Given the description of an element on the screen output the (x, y) to click on. 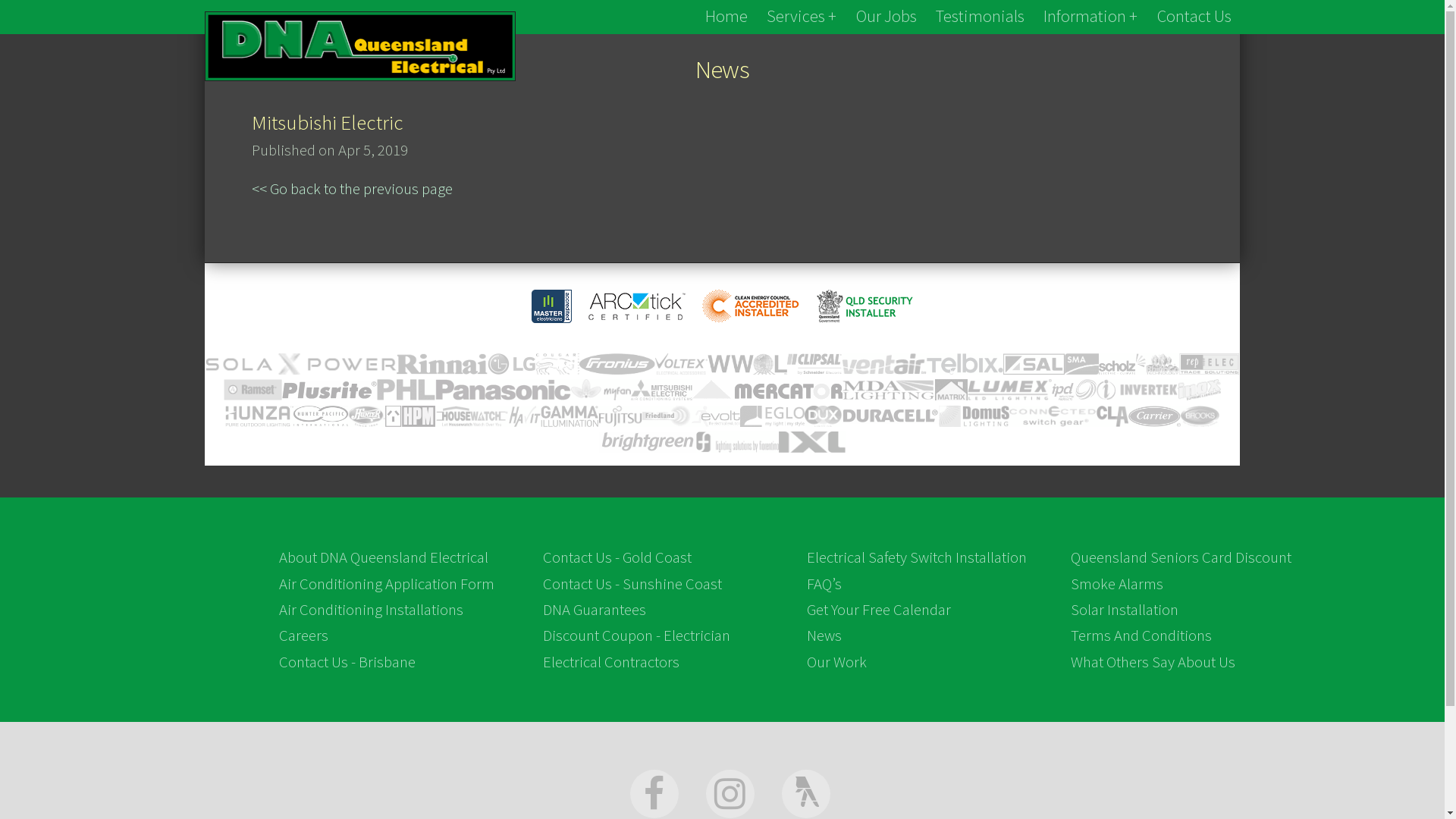
Vent Air Element type: hover (883, 363)
Terms And Conditions Element type: text (1140, 635)
Queensland Seniors Card Discount Element type: text (1180, 557)
Inox Element type: hover (1198, 389)
Fujitsu Element type: hover (620, 415)
Mitsubishi Electric Element type: hover (661, 389)
Invertek Element type: hover (1136, 389)
Hunter Fans Element type: hover (366, 415)
Dux Element type: hover (822, 415)
About DNA Queensland Electrical Element type: text (383, 557)
Eglo Lighting Element type: hover (772, 415)
Services Element type: text (801, 17)
Ramset Element type: hover (252, 389)
Contact Us - Gold Coast Element type: text (616, 557)
Get Your Free Calendar Element type: text (878, 609)
Rhino Element type: hover (1162, 363)
ARC Tick Certified Element type: hover (636, 306)
Electrical Contractors Element type: text (610, 661)
Contact Us Element type: text (1193, 17)
Duracell Element type: hover (889, 415)
Air Conditioning Installations Element type: text (371, 609)
News Element type: text (823, 635)
MDA Lighting Element type: hover (888, 389)
IPD Industrial Products Element type: hover (1073, 389)
Gamma Illumination Element type: hover (569, 415)
Fiorentino Element type: hover (737, 441)
What Others Say About Us Element type: text (1152, 661)
Havit Lighting Element type: hover (524, 415)
Plusrite Element type: hover (329, 389)
Sunny Lighting Element type: hover (1033, 363)
Mercator Lighting Element type: hover (767, 389)
Cougar Lighting Element type: hover (557, 363)
PHL Element type: hover (405, 389)
Scholz Group Element type: hover (1121, 363)
SMA Element type: hover (1081, 363)
Clipsal Element type: hover (814, 363)
Master Electrician Element type: hover (551, 306)
Matrix Element type: hover (951, 389)
Carrier Element type: hover (1154, 415)
Fronius Element type: hover (617, 363)
Bright Green Element type: hover (647, 442)
Smoke Alarms Element type: text (1116, 583)
Testimonials Element type: text (979, 17)
Air Conditioning Application Form Element type: text (386, 583)
Domus Lighting Element type: hover (973, 415)
LG Element type: hover (511, 363)
Clean Energy Council Accredited Installer Element type: hover (750, 306)
Careers Element type: text (303, 635)
Evolt Element type: hover (715, 415)
Hunza Element type: hover (259, 415)
Hunter Pacific Element type: hover (320, 415)
Our Work Element type: text (836, 661)
Panasonic Element type: hover (503, 389)
Contact Us - Brisbane Element type: text (347, 661)
Sola X Element type: hover (300, 363)
Information Element type: text (1090, 17)
QLD Security Installer Element type: hover (864, 306)
IXL Element type: hover (812, 441)
Telbix Lighting Element type: hover (964, 363)
Home Element type: text (726, 17)
MyFan Element type: hover (600, 389)
Rinnai Element type: hover (441, 363)
<< Go back to the previous page Element type: text (351, 188)
DNA Guarantees Element type: text (594, 609)
House Watch Element type: hover (471, 415)
Lumex LED Lighting Element type: hover (1009, 389)
Contact Us - Sunshine Coast Element type: text (631, 583)
Friedland Element type: hover (667, 415)
Mitsubishi Electric Element type: text (327, 121)
HPM Element type: hover (410, 415)
Wide World Of Lights Element type: hover (747, 363)
Electrical Safety Switch Installation Element type: text (916, 557)
Discount Coupon - Electrician Element type: text (636, 635)
Solar Installation Element type: text (1124, 609)
Voltex Element type: hover (681, 363)
Our Jobs Element type: text (886, 17)
Rep Elec Element type: hover (1208, 363)
Brooks Smoke Alarms Element type: hover (1199, 415)
Connected Element type: hover (1052, 415)
CLA Lighting Element type: hover (1112, 415)
